Given the description of an element on the screen output the (x, y) to click on. 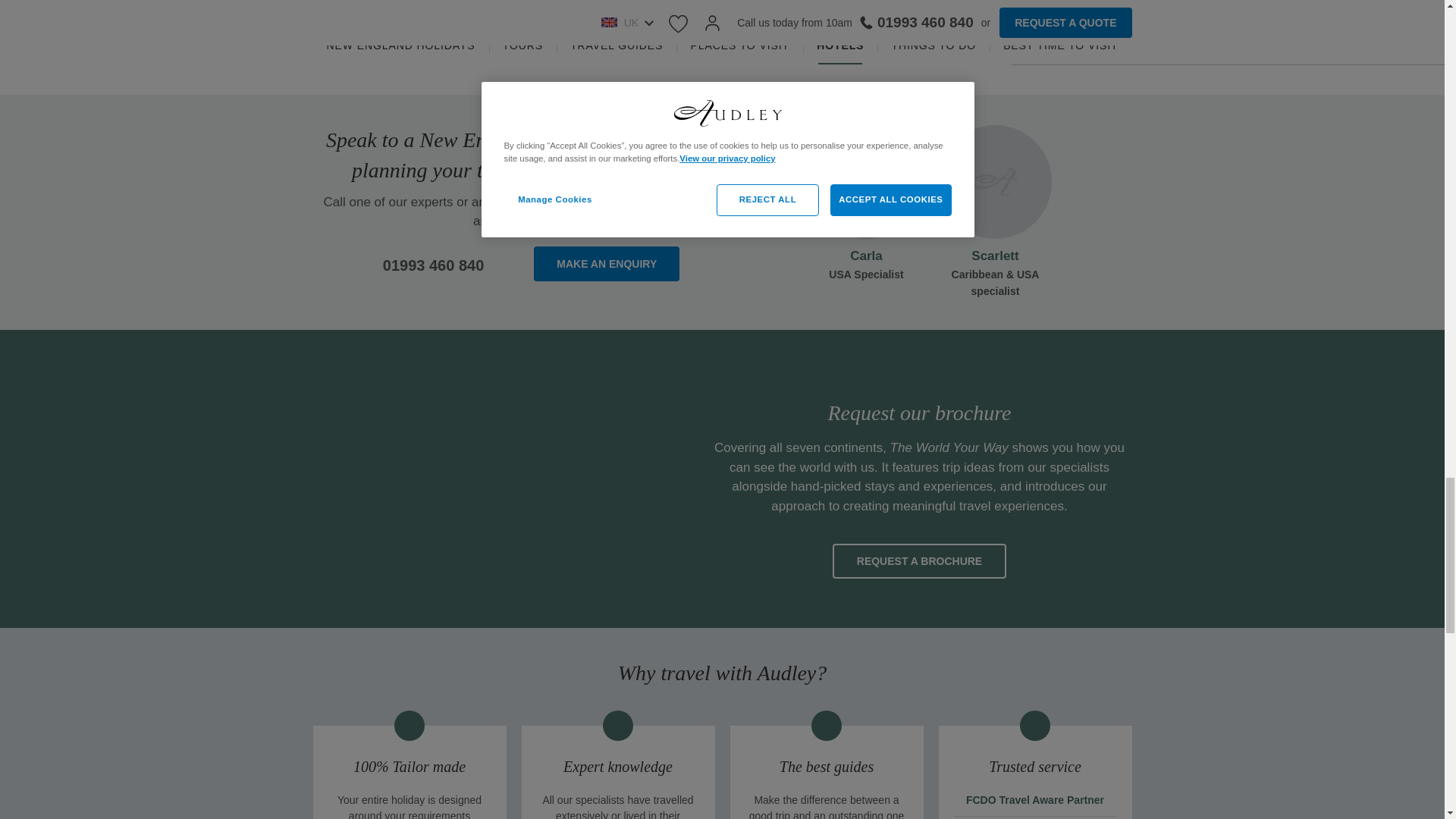
Reset bearing to north (992, 30)
Map feedback (969, 56)
OpenStreetMap (891, 56)
Mapbox (830, 56)
Zoom out (992, 9)
